Given the description of an element on the screen output the (x, y) to click on. 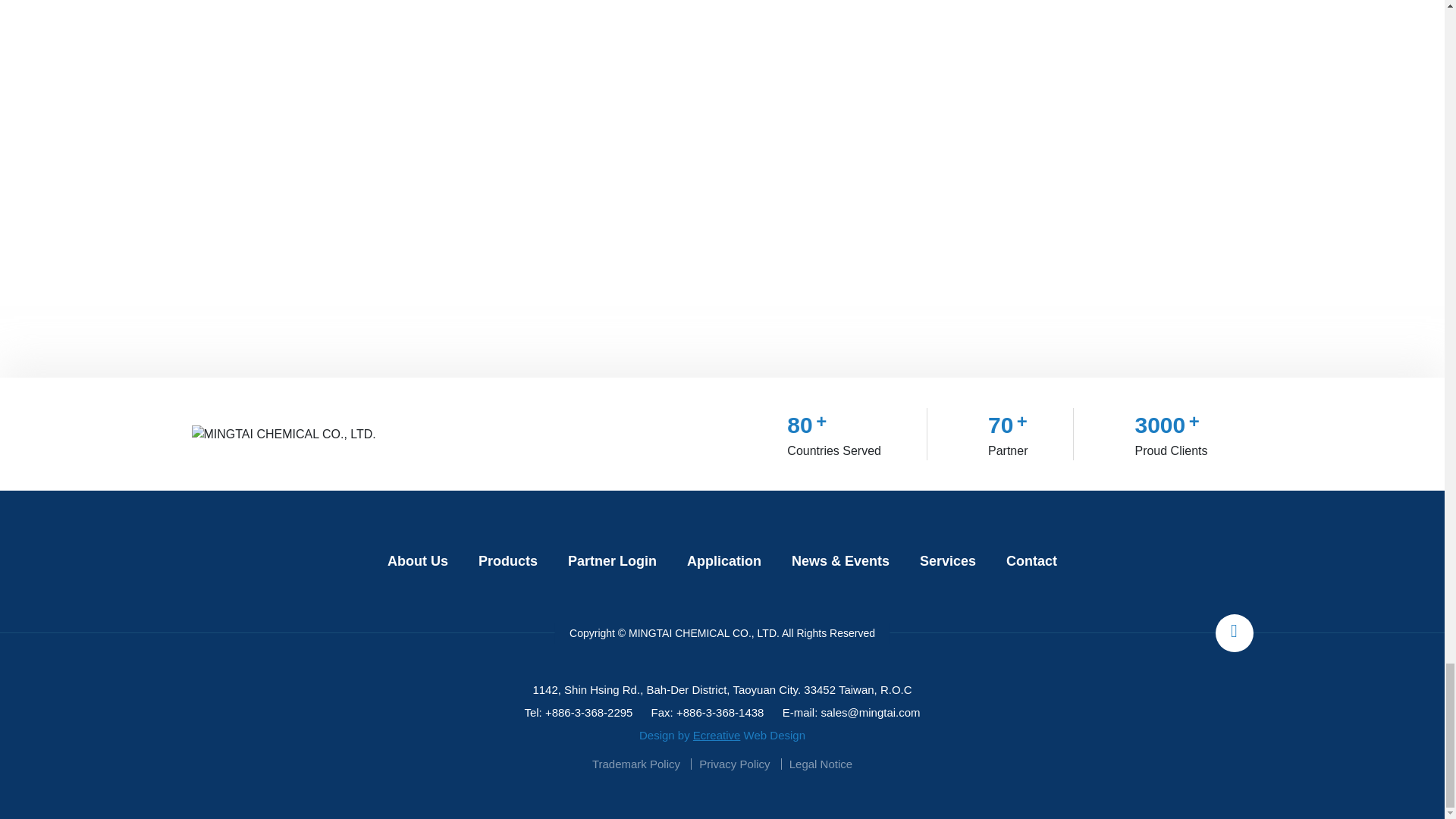
Products (508, 560)
About Us (417, 560)
